Given the description of an element on the screen output the (x, y) to click on. 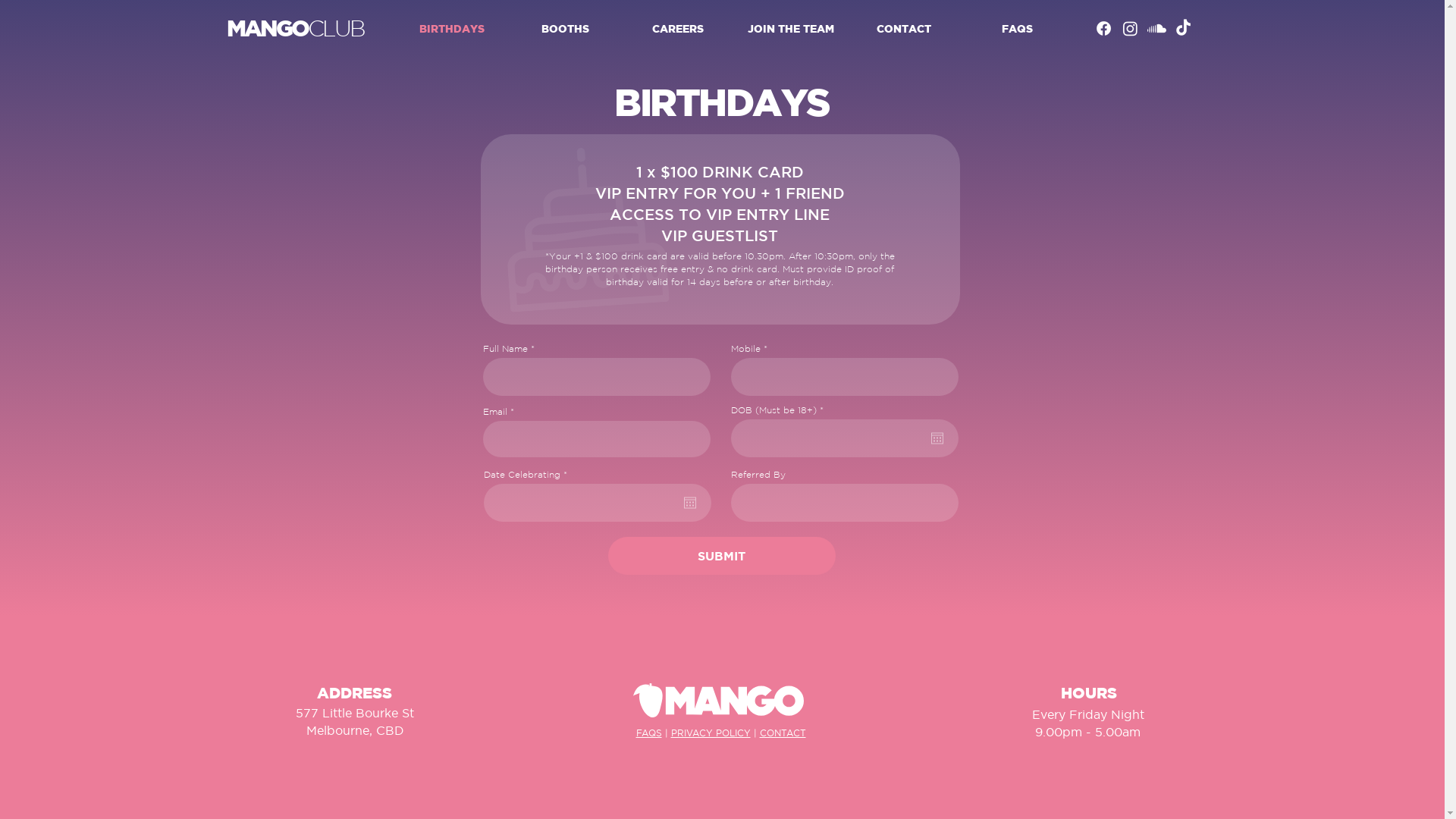
BIRTHDAYS Element type: text (451, 28)
BOOTHS Element type: text (564, 28)
JOIN THE TEAM Element type: text (790, 28)
SUBMIT Element type: text (721, 555)
CAREERS Element type: text (677, 28)
FAQS Element type: text (649, 732)
CONTACT Element type: text (903, 28)
FAQS Element type: text (1016, 28)
PRIVACY POLICY Element type: text (710, 732)
MANGOCLUB Element type: text (294, 28)
CONTACT Element type: text (782, 732)
